Given the description of an element on the screen output the (x, y) to click on. 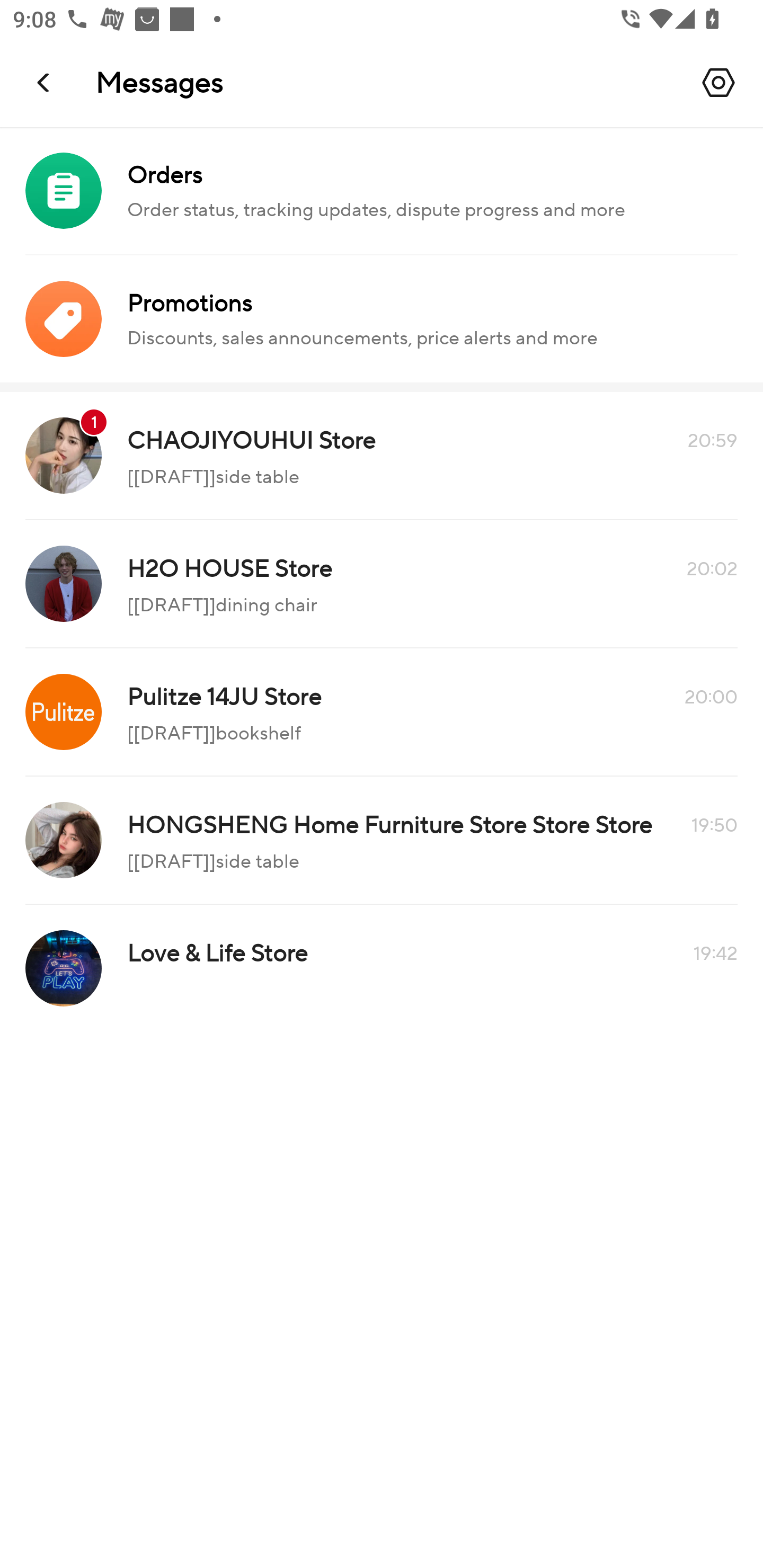
Navigate up (44, 82)
